Given the description of an element on the screen output the (x, y) to click on. 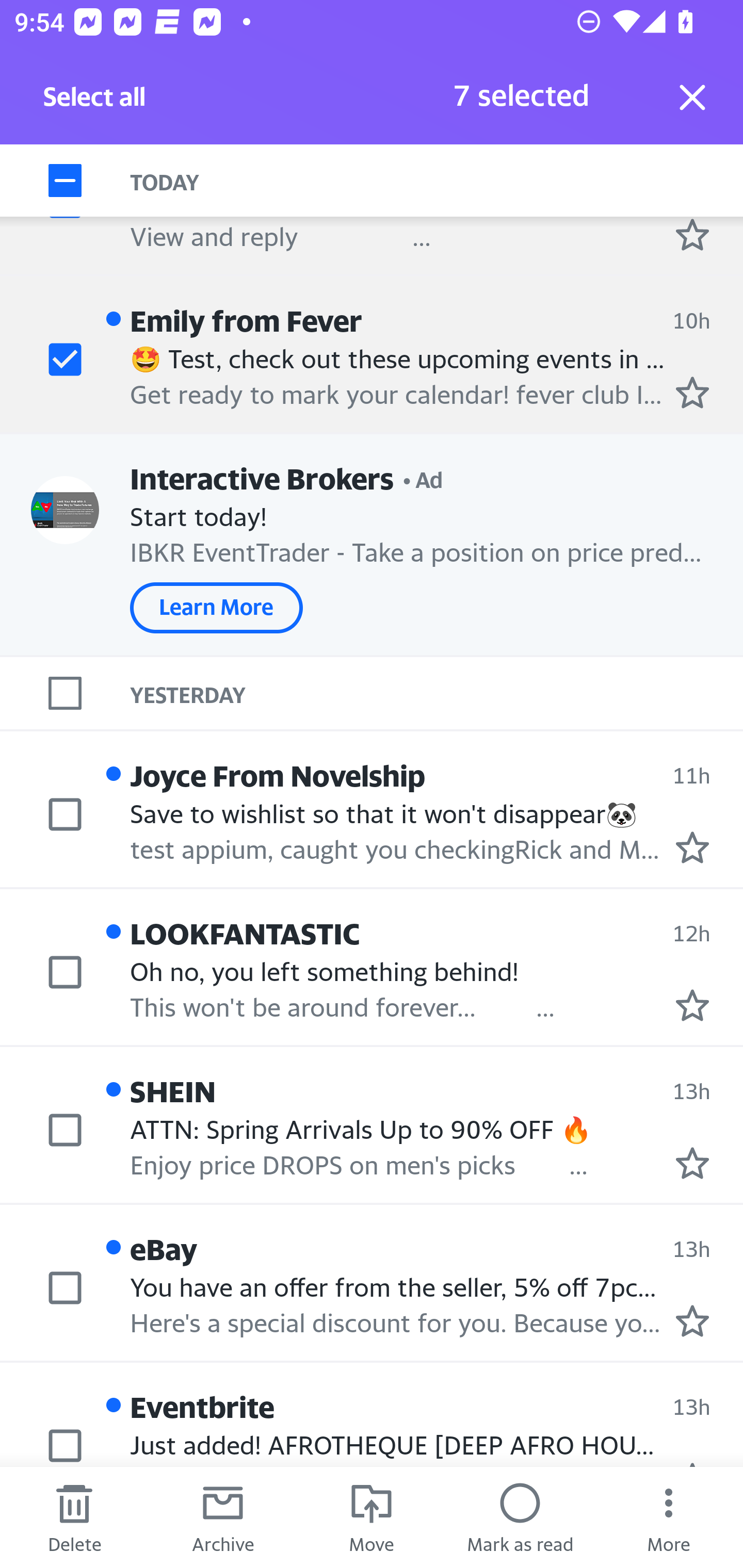
Exit selection mode (692, 97)
Select all (94, 101)
Mark as starred. (692, 234)
Mark as starred. (692, 392)
• Ad (422, 477)
YESTERDAY (436, 693)
Mark as starred. (692, 847)
Mark as starred. (692, 1005)
Mark as starred. (692, 1162)
Mark as starred. (692, 1321)
Delete (74, 1517)
Archive (222, 1517)
Move (371, 1517)
Mark as read (519, 1517)
More (668, 1517)
